Given the description of an element on the screen output the (x, y) to click on. 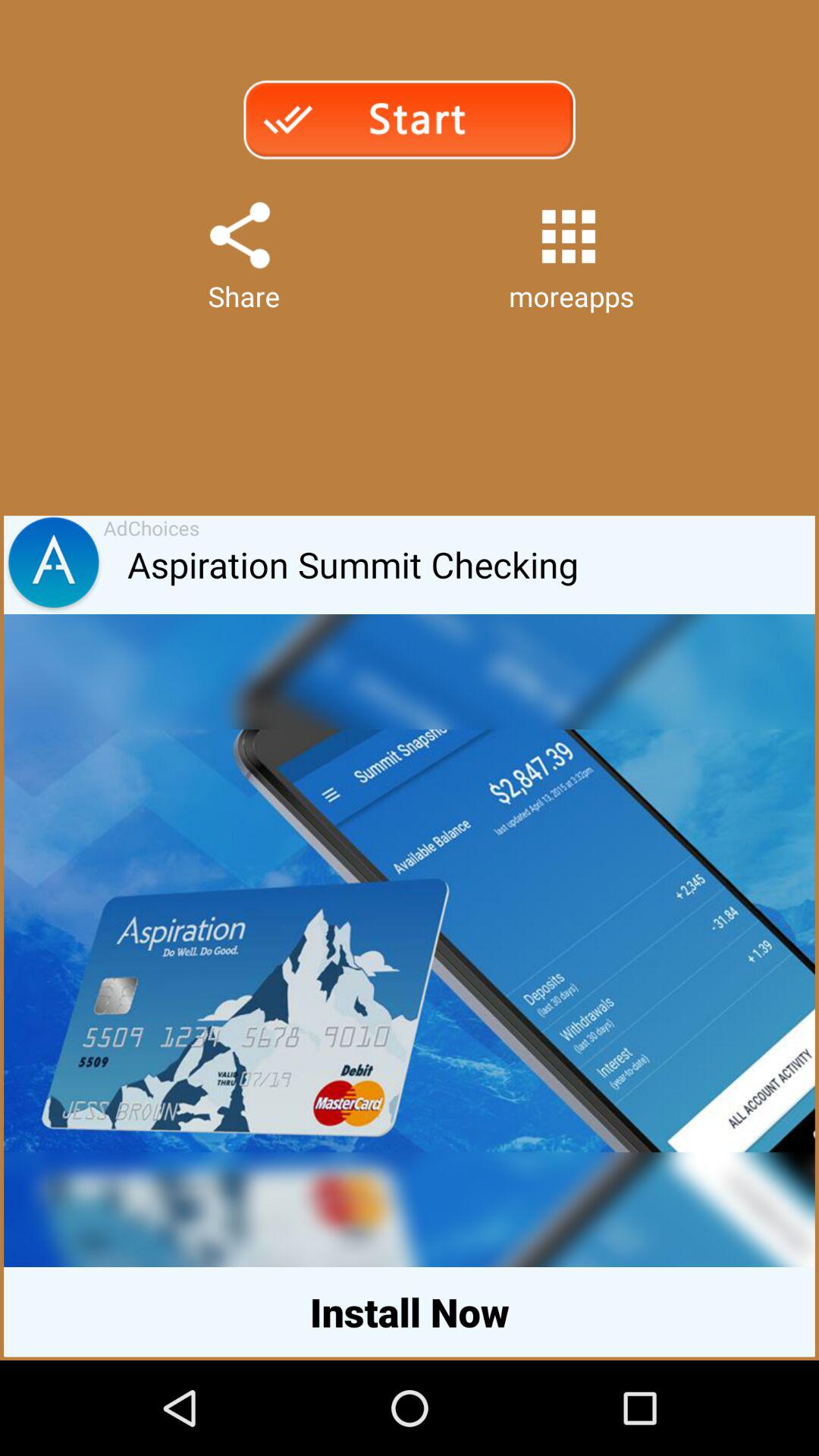
flip to the aspiration summit checking icon (471, 564)
